Given the description of an element on the screen output the (x, y) to click on. 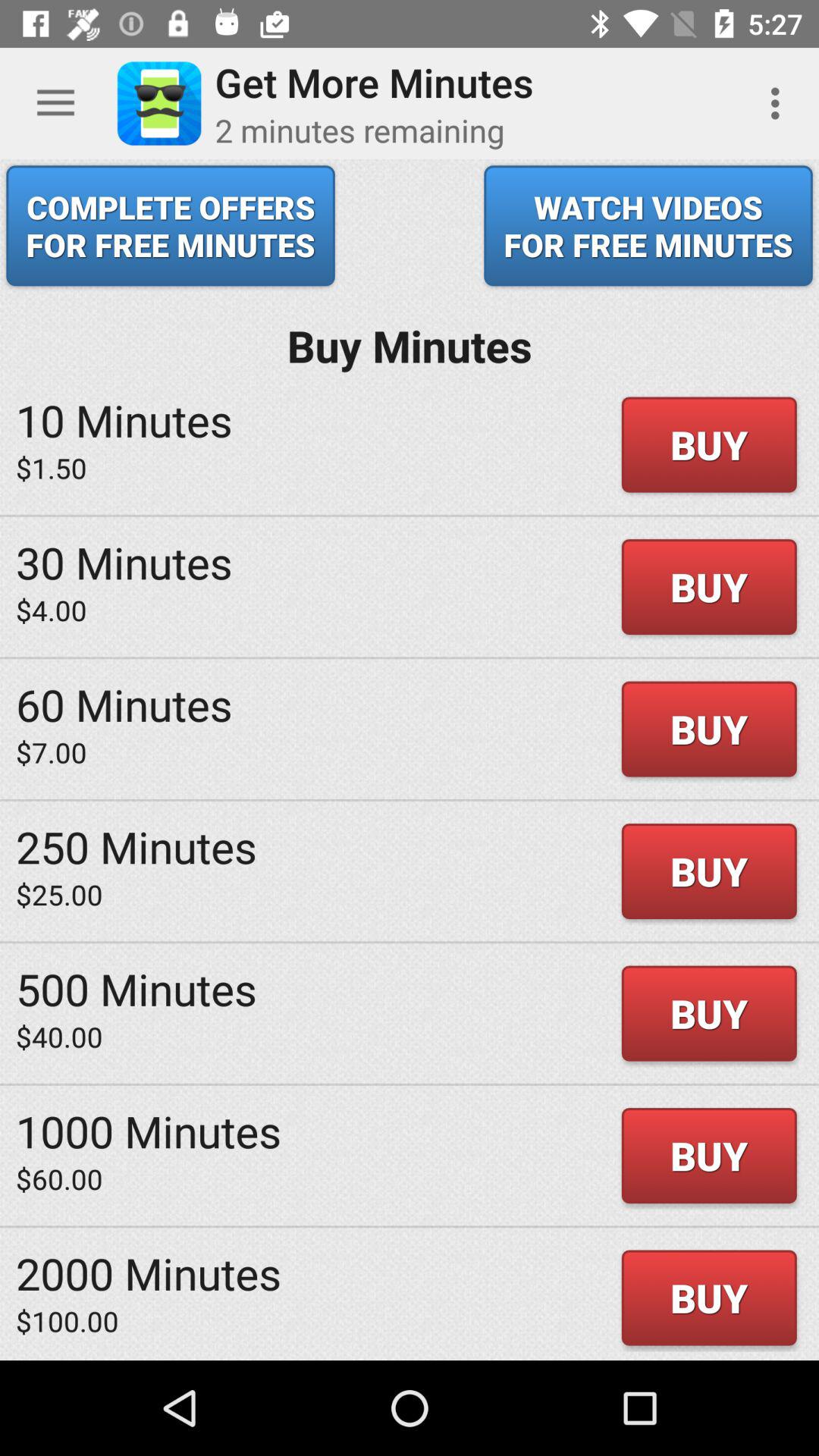
choose the item above complete offers for (55, 103)
